Given the description of an element on the screen output the (x, y) to click on. 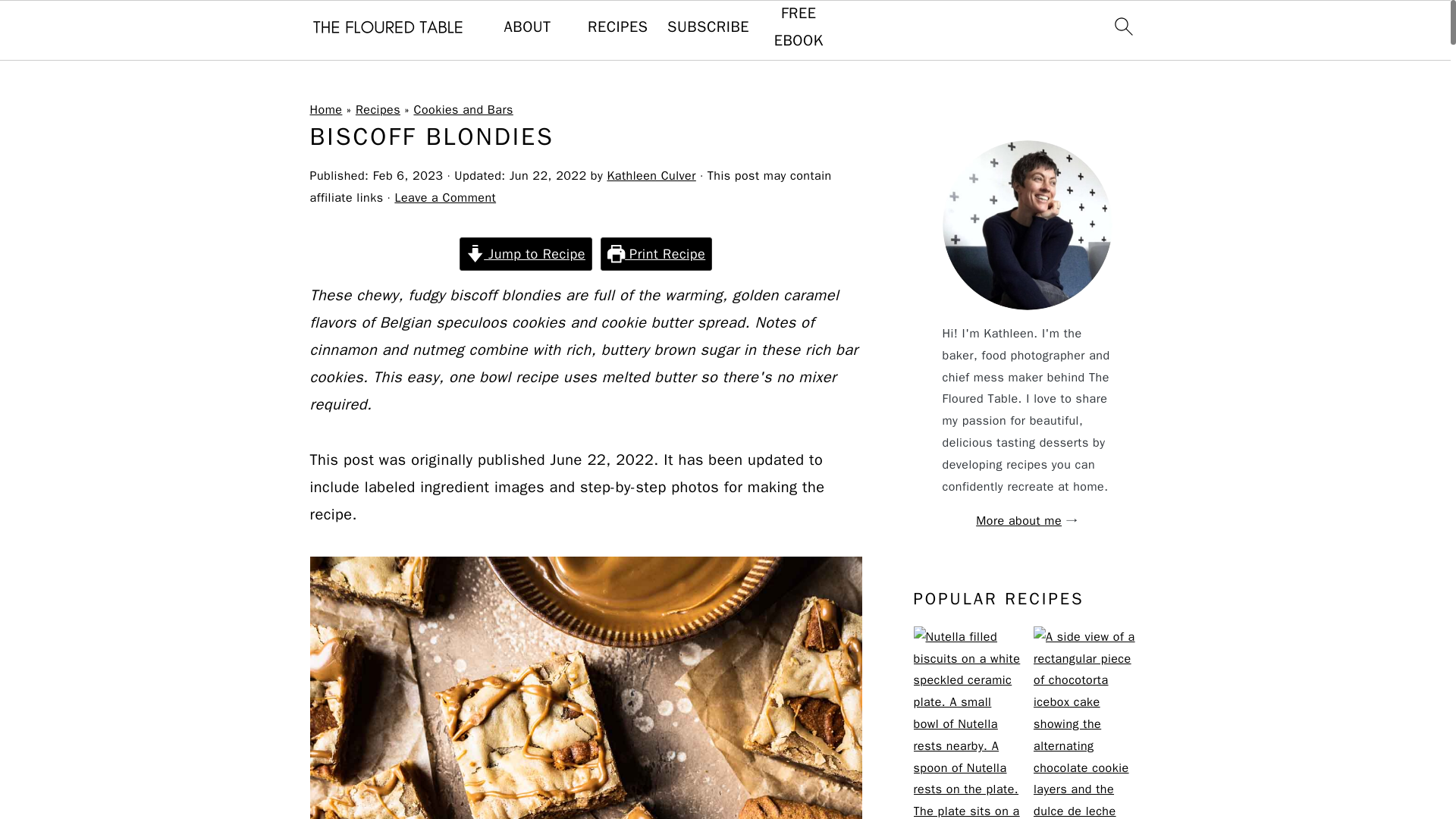
Jump to Recipe (526, 254)
search icon (1122, 26)
search icon (1122, 30)
Home (325, 109)
RECIPES (617, 26)
Kathleen Culver (651, 175)
Print Recipe (655, 254)
ABOUT (527, 26)
Cookies and Bars (462, 109)
Leave a Comment (445, 197)
SUBSCRIBE (707, 26)
FREE EBOOK (798, 27)
Recipes (377, 109)
